Given the description of an element on the screen output the (x, y) to click on. 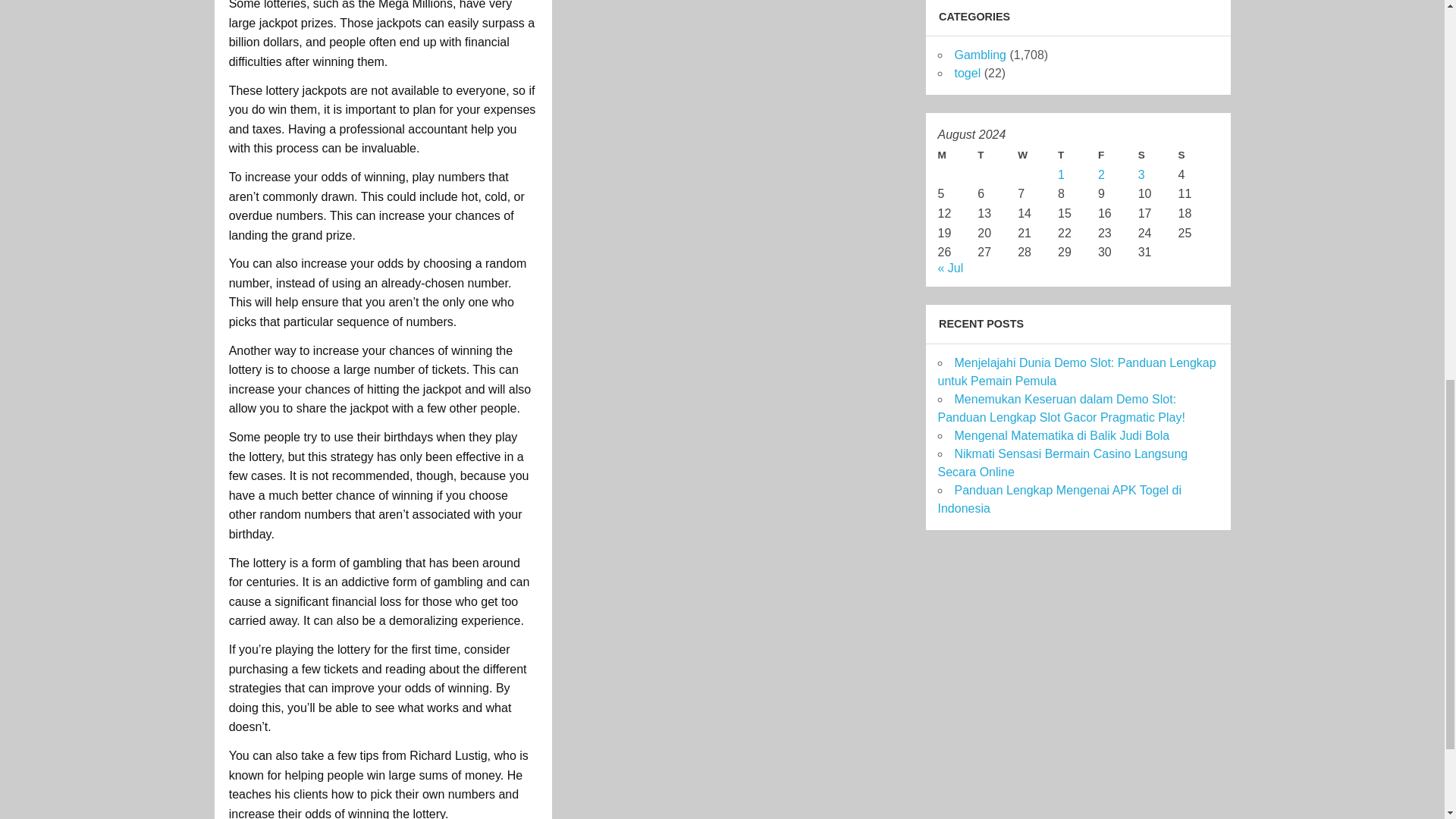
Thursday (1077, 155)
Monday (956, 155)
Gambling (979, 54)
Tuesday (996, 155)
Friday (1117, 155)
Saturday (1157, 155)
Sunday (1197, 155)
Wednesday (1037, 155)
togel (966, 72)
